Given the description of an element on the screen output the (x, y) to click on. 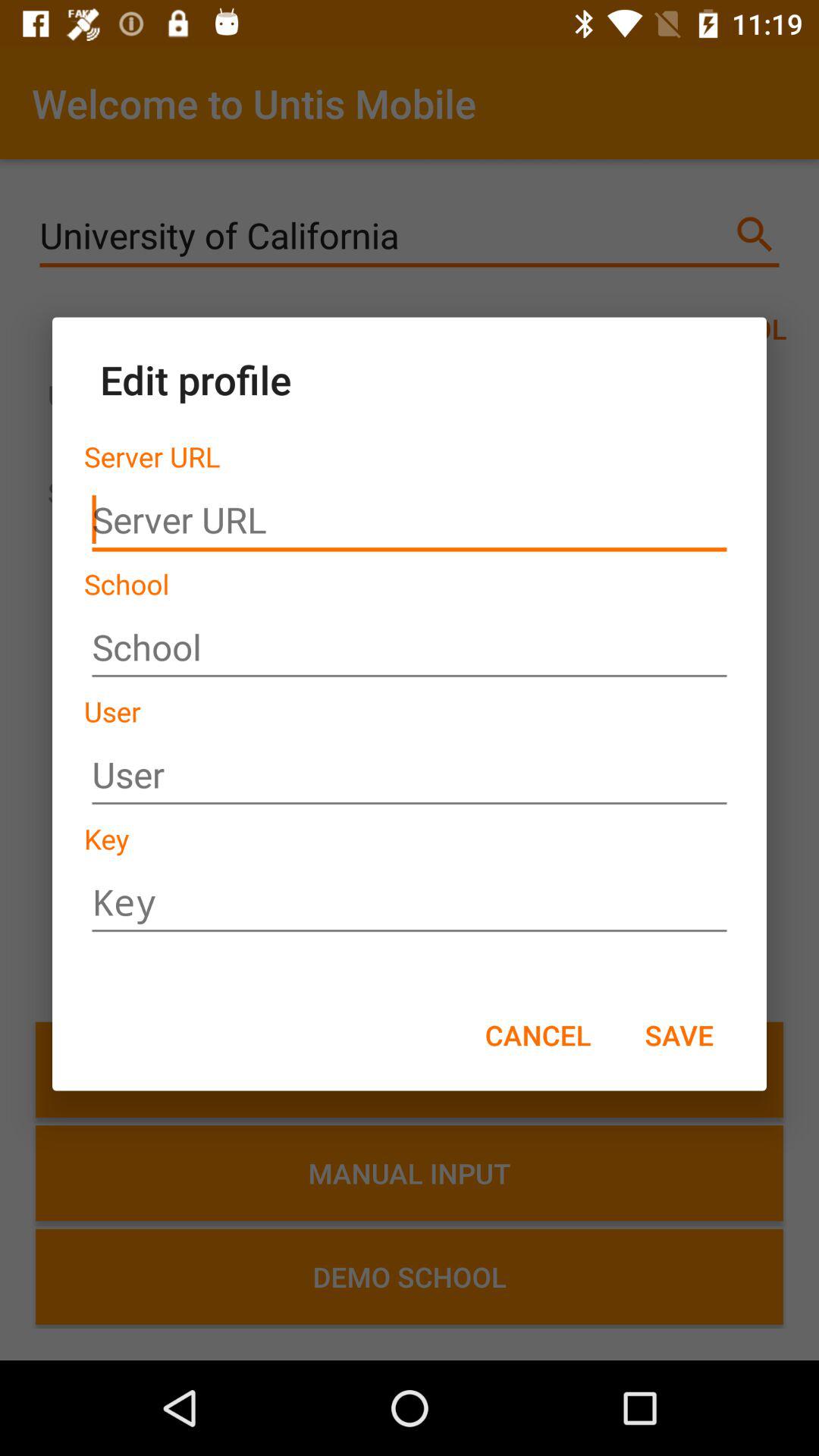
between school name (409, 647)
